Given the description of an element on the screen output the (x, y) to click on. 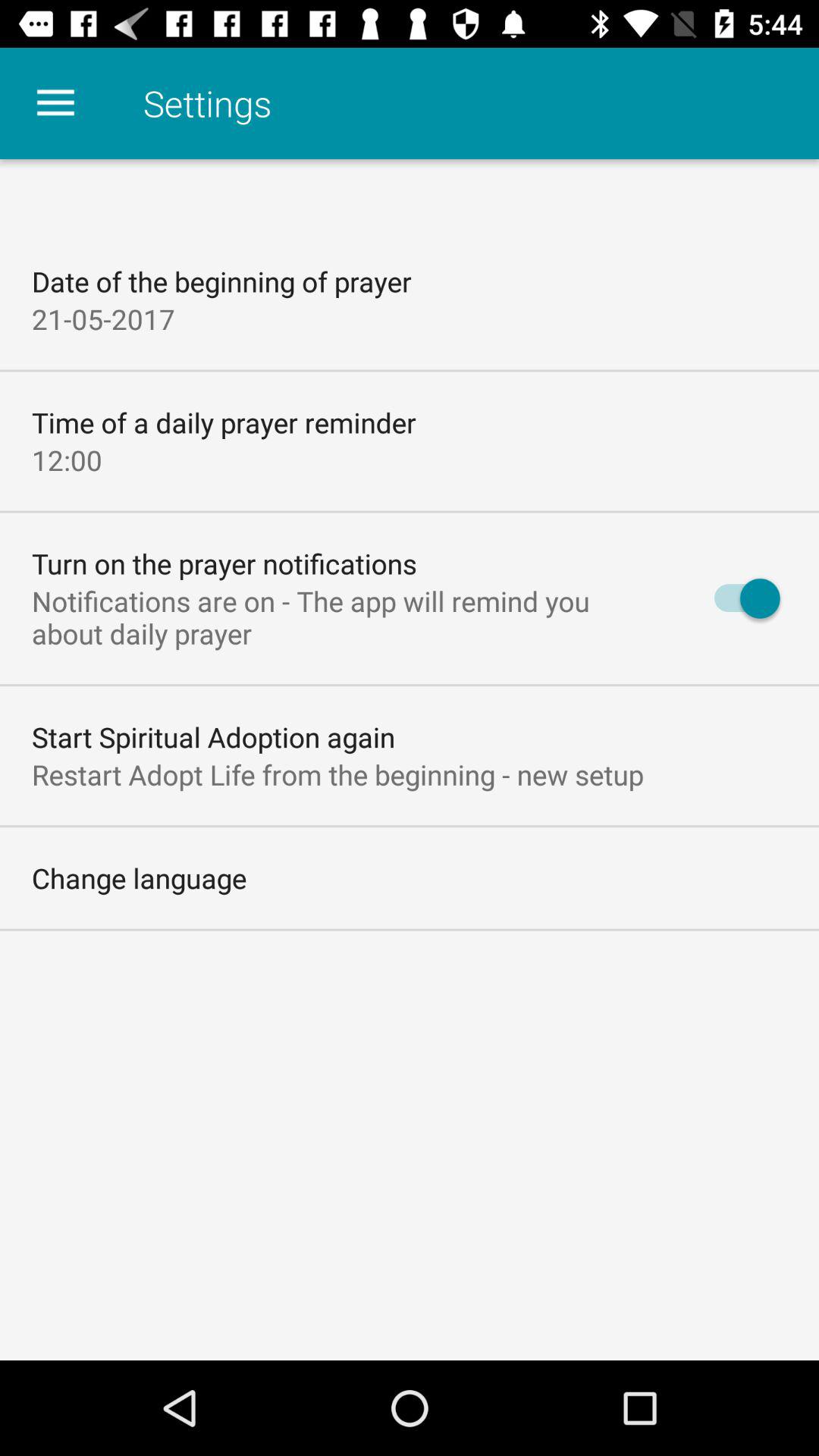
select item above the turn on the item (66, 459)
